Given the description of an element on the screen output the (x, y) to click on. 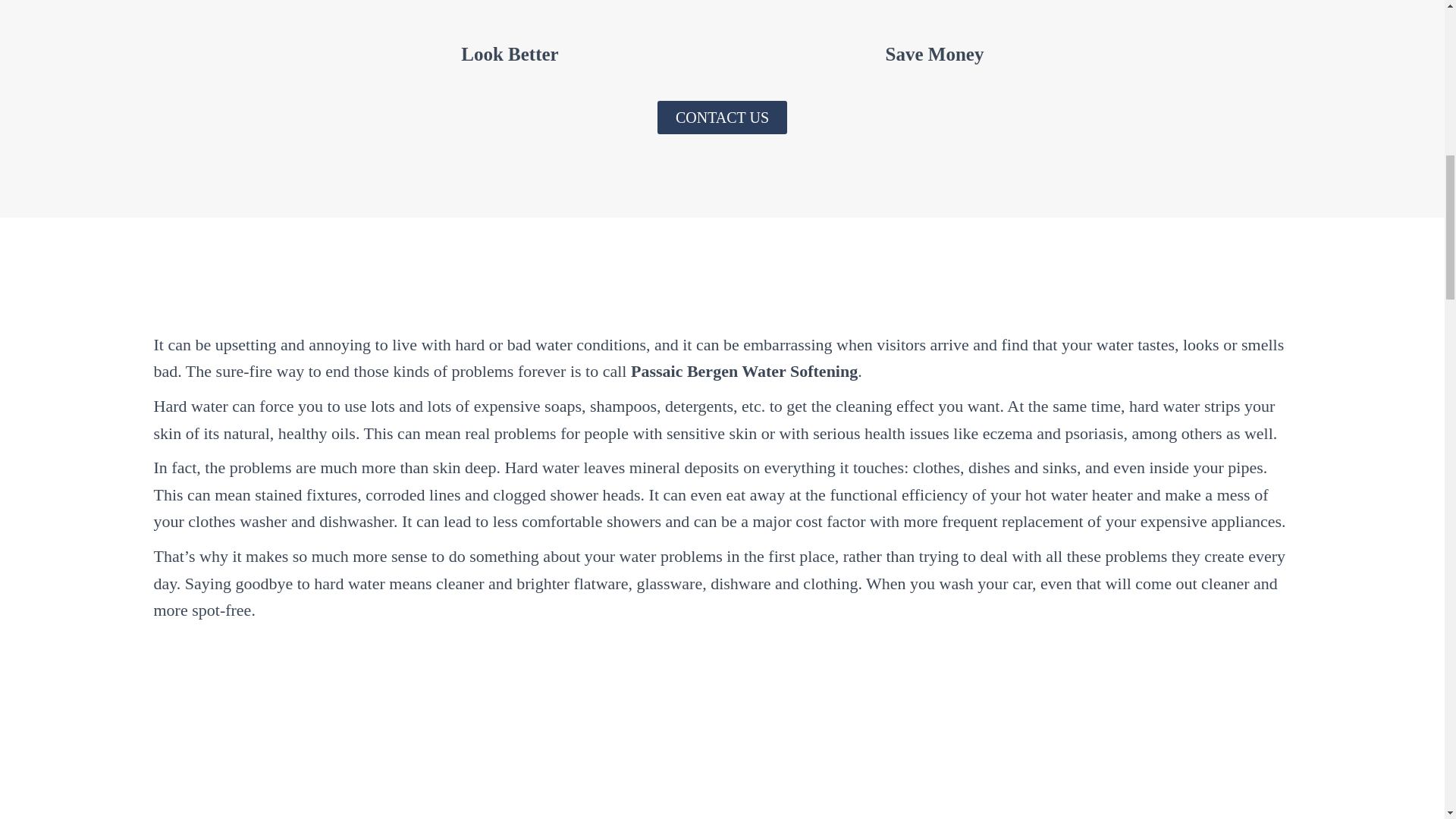
CONTACT US (722, 117)
